Given the description of an element on the screen output the (x, y) to click on. 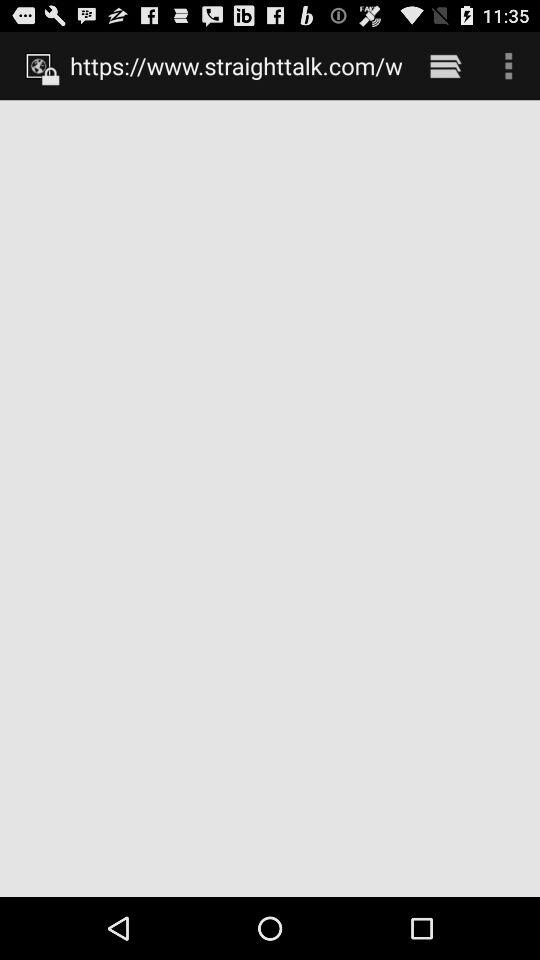
turn off the item at the center (270, 497)
